Given the description of an element on the screen output the (x, y) to click on. 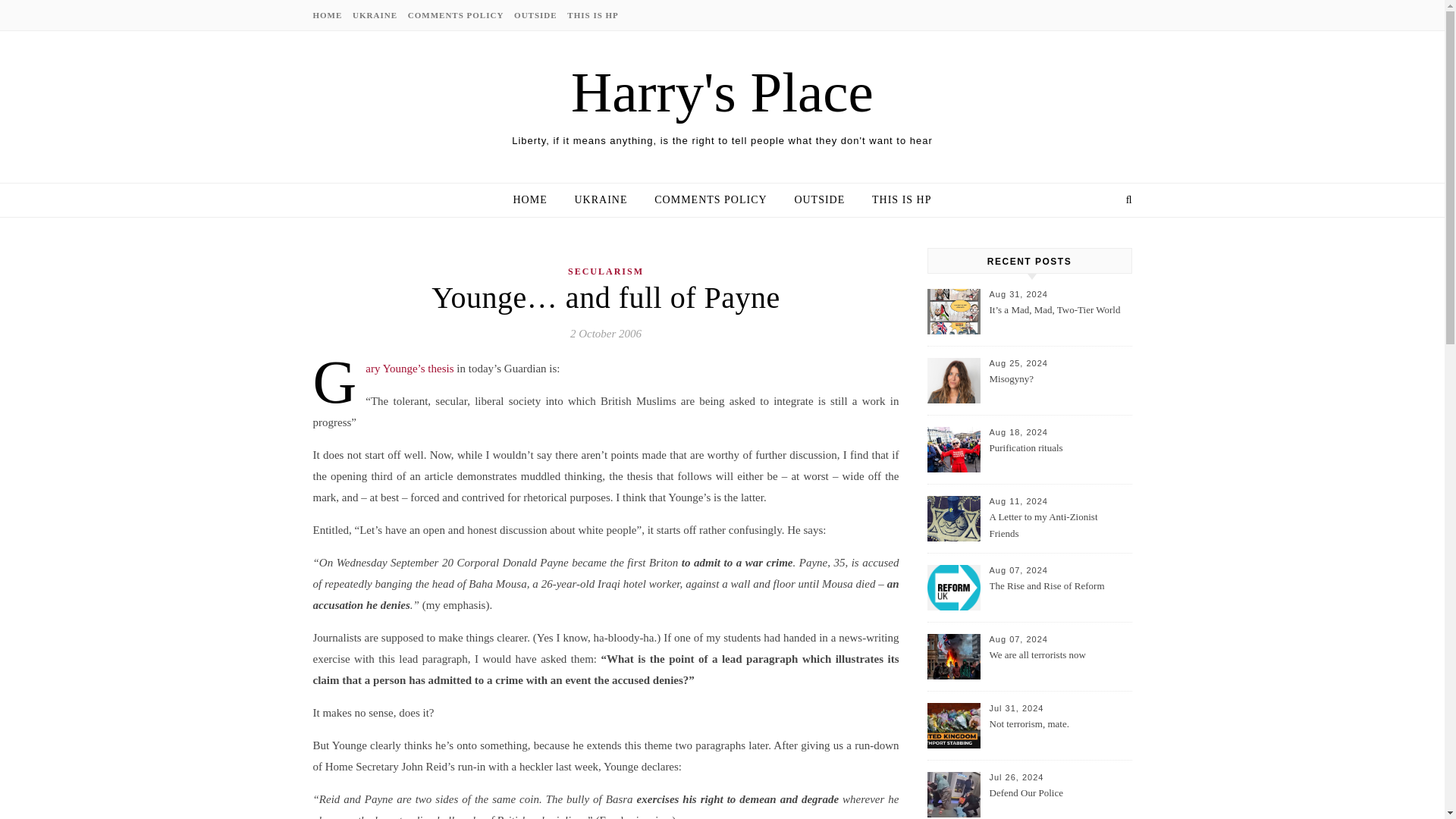
HOME (535, 200)
OUTSIDE (535, 15)
Misogyny? (1058, 388)
A Letter to my Anti-Zionist Friends (1058, 525)
SECULARISM (605, 271)
OUTSIDE (819, 200)
Harry's Place (721, 91)
THIS IS HP (895, 200)
HOME (329, 15)
UKRAINE (375, 15)
